Given the description of an element on the screen output the (x, y) to click on. 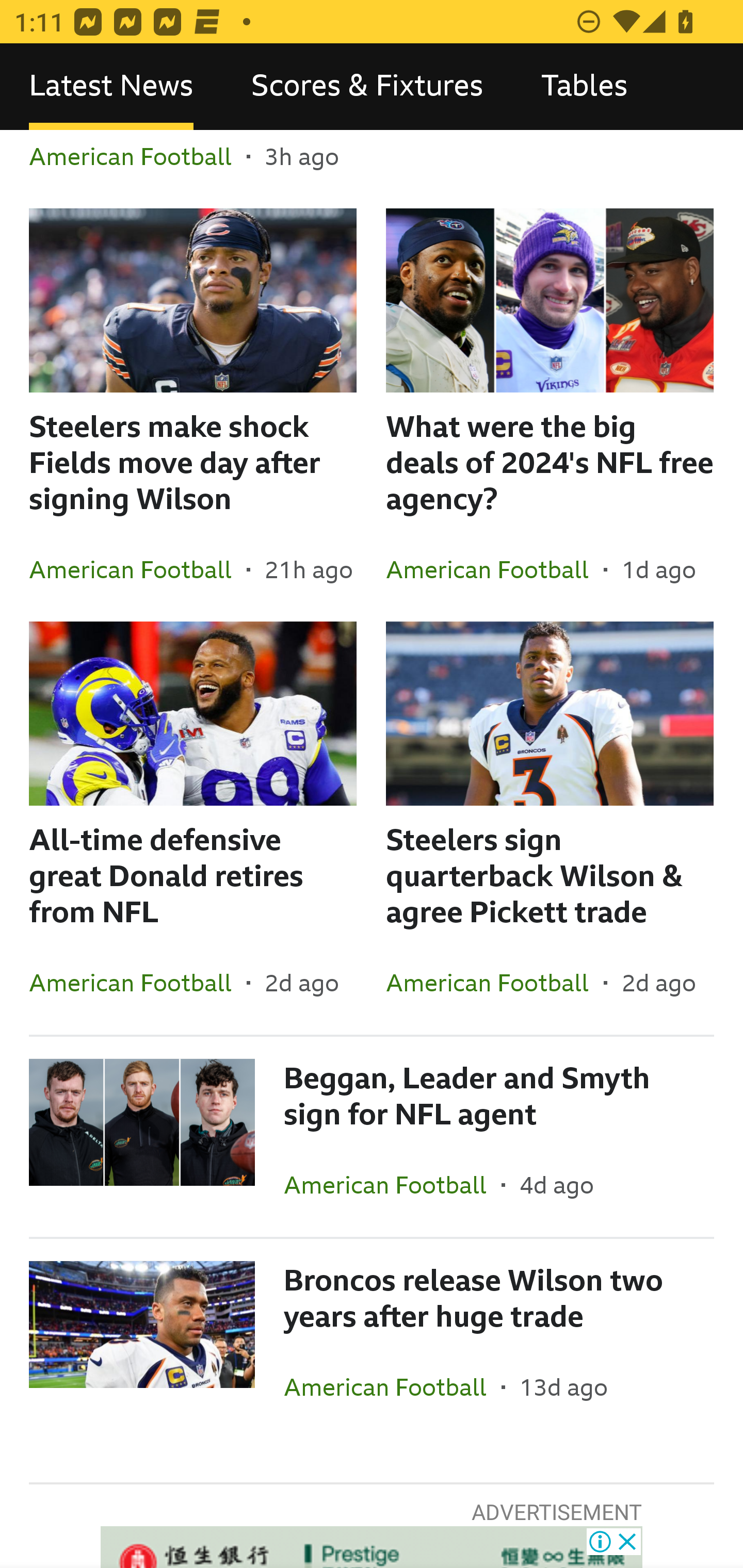
Latest News, selected Latest News (111, 86)
Scores & Fixtures (367, 86)
Tables (584, 86)
